Given the description of an element on the screen output the (x, y) to click on. 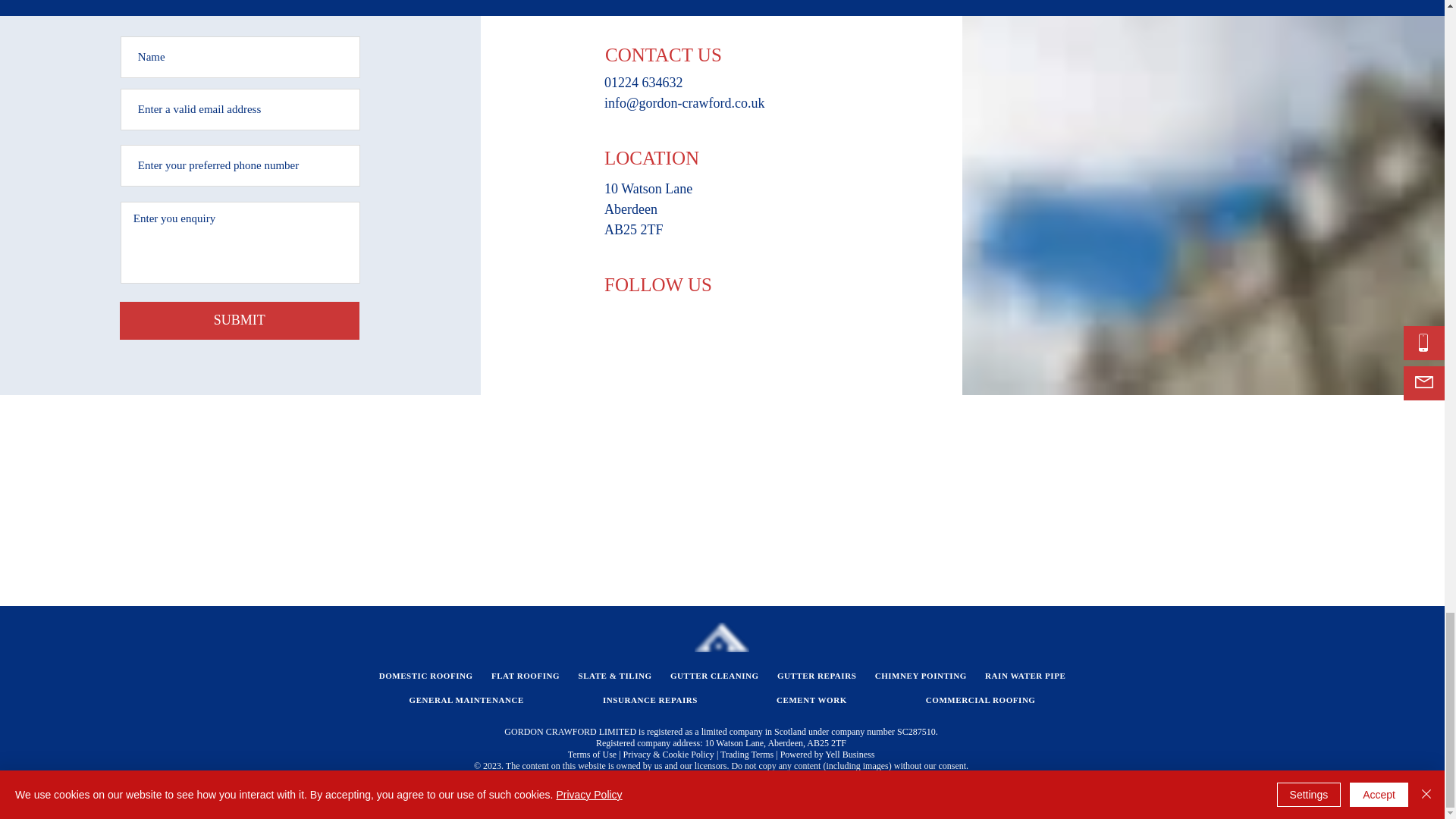
RAIN WATER PIPE (1025, 675)
SUBMIT (239, 320)
CHIMNEY POINTING (920, 675)
INSURANCE REPAIRS (649, 699)
GUTTER CLEANING (714, 675)
GENERAL MAINTENANCE (466, 699)
GUTTER REPAIRS (817, 675)
DOMESTIC ROOFING (425, 675)
FLAT ROOFING (525, 675)
